Given the description of an element on the screen output the (x, y) to click on. 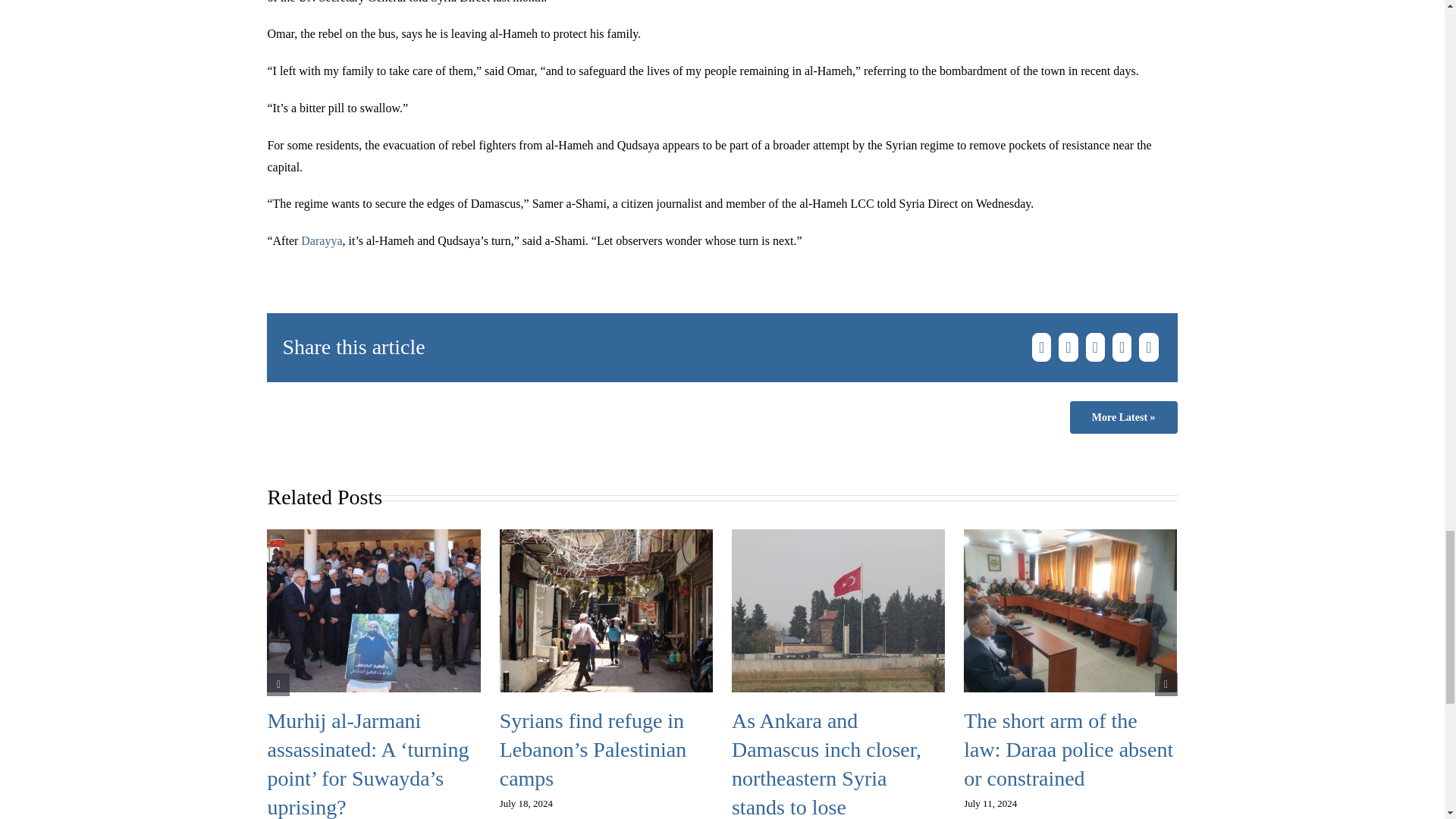
The short arm of the law: Daraa police absent or constrained (1068, 749)
